Given the description of an element on the screen output the (x, y) to click on. 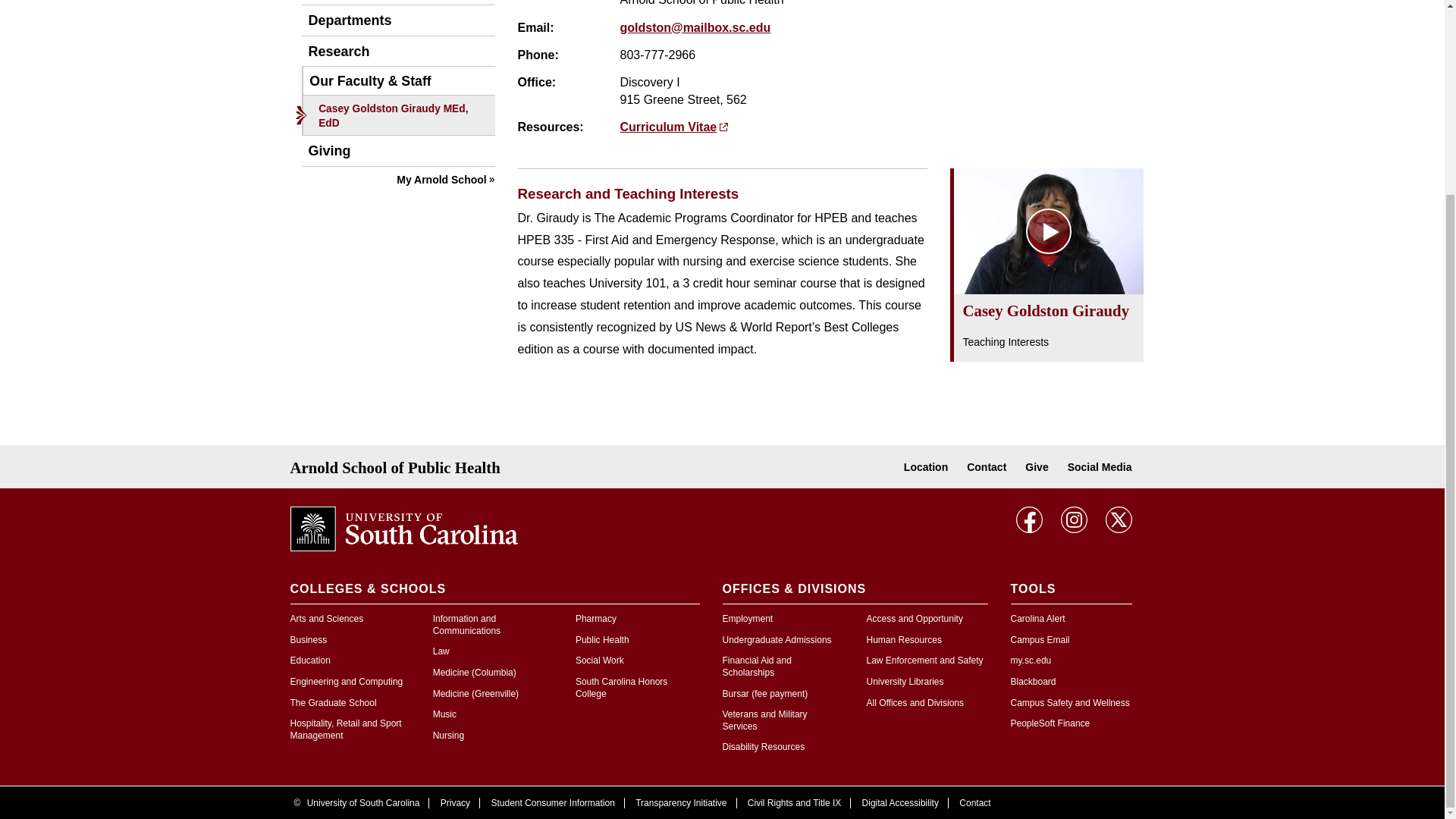
University of South Carolina (402, 527)
